Given the description of an element on the screen output the (x, y) to click on. 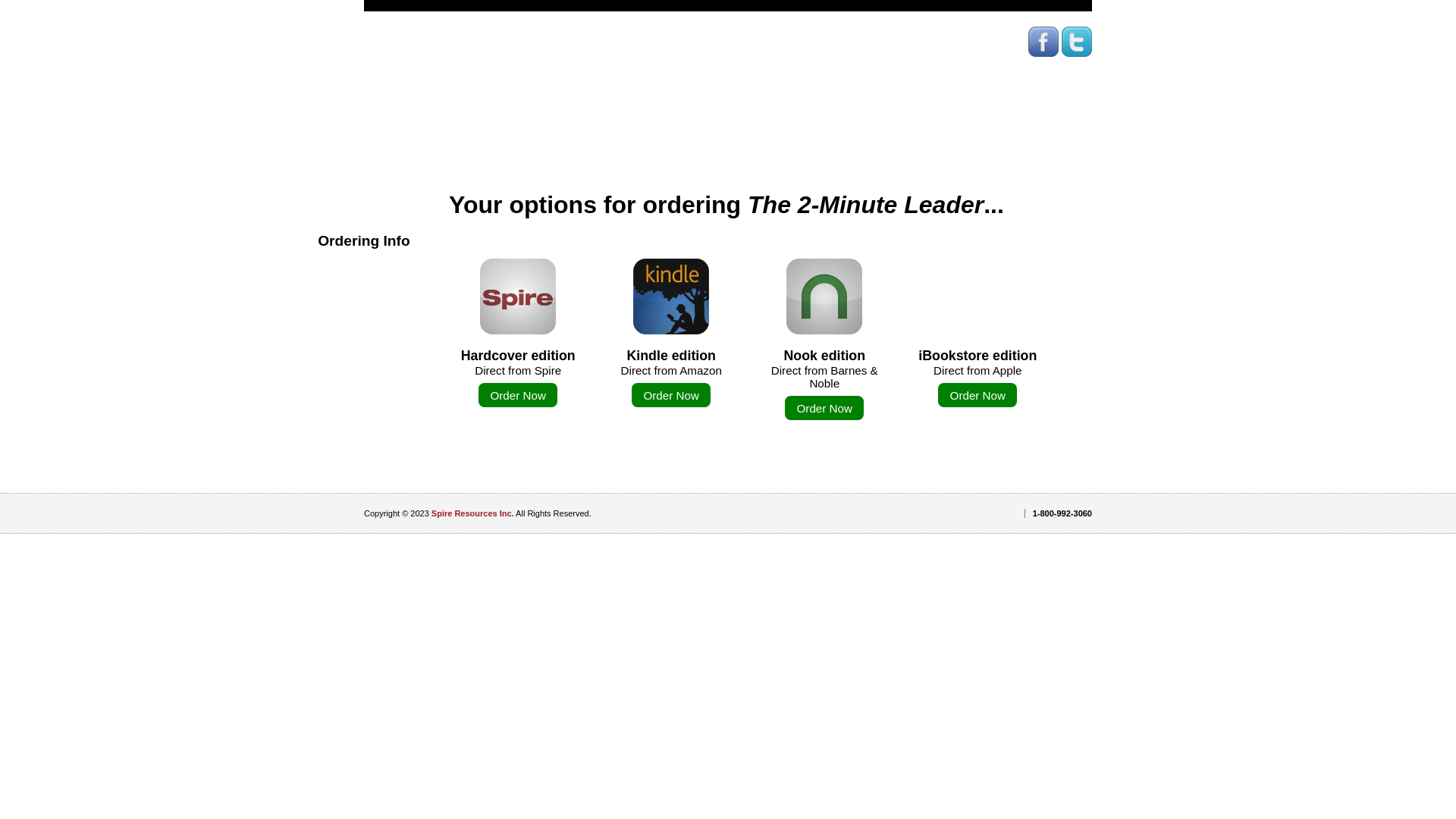
Home Element type: text (363, 178)
Order Now Element type: text (670, 394)
Kindle edition
Direct from Amazon
Order Now Element type: text (671, 335)
Contact Element type: text (363, 272)
Order Now Element type: text (517, 394)
iBookstore edition
Direct from Apple
Order Now Element type: text (977, 335)
Contact Element type: text (342, 271)
Hardcover edition
Direct from Spire
Order Now Element type: text (517, 335)
Home Element type: text (336, 178)
Nook edition
Direct from Barnes & Noble
Order Now Element type: text (824, 341)
Order Now Element type: text (977, 394)
Study Guide Element type: text (363, 209)
Study Guide Element type: text (357, 209)
Order Now Element type: text (823, 407)
